Given the description of an element on the screen output the (x, y) to click on. 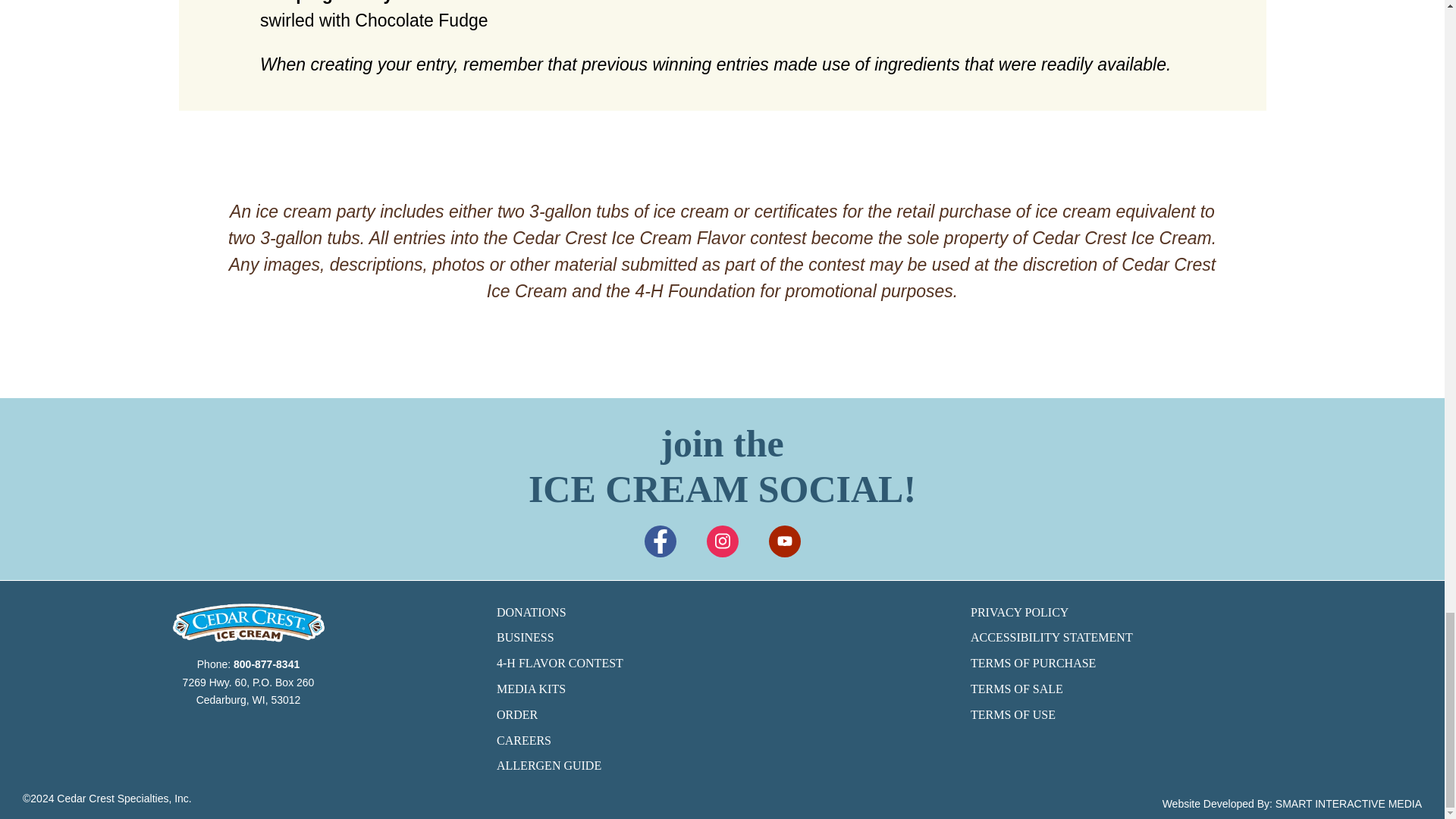
SMART INTERACTIVE MEDIA (1348, 803)
PRIVACY POLICY (1196, 612)
4-H FLAVOR CONTEST (721, 663)
Follow on Facebook (661, 541)
CAREERS (721, 741)
MEDIA KITS (721, 689)
TERMS OF PURCHASE (1196, 663)
ACCESSIBILITY STATEMENT (1196, 637)
TERMS OF SALE (1196, 689)
Follow on Youtube (784, 541)
ALLERGEN GUIDE (721, 765)
TERMS OF USE (1196, 714)
DONATIONS (721, 612)
Follow on Instagram (722, 541)
ORDER (721, 714)
